Given the description of an element on the screen output the (x, y) to click on. 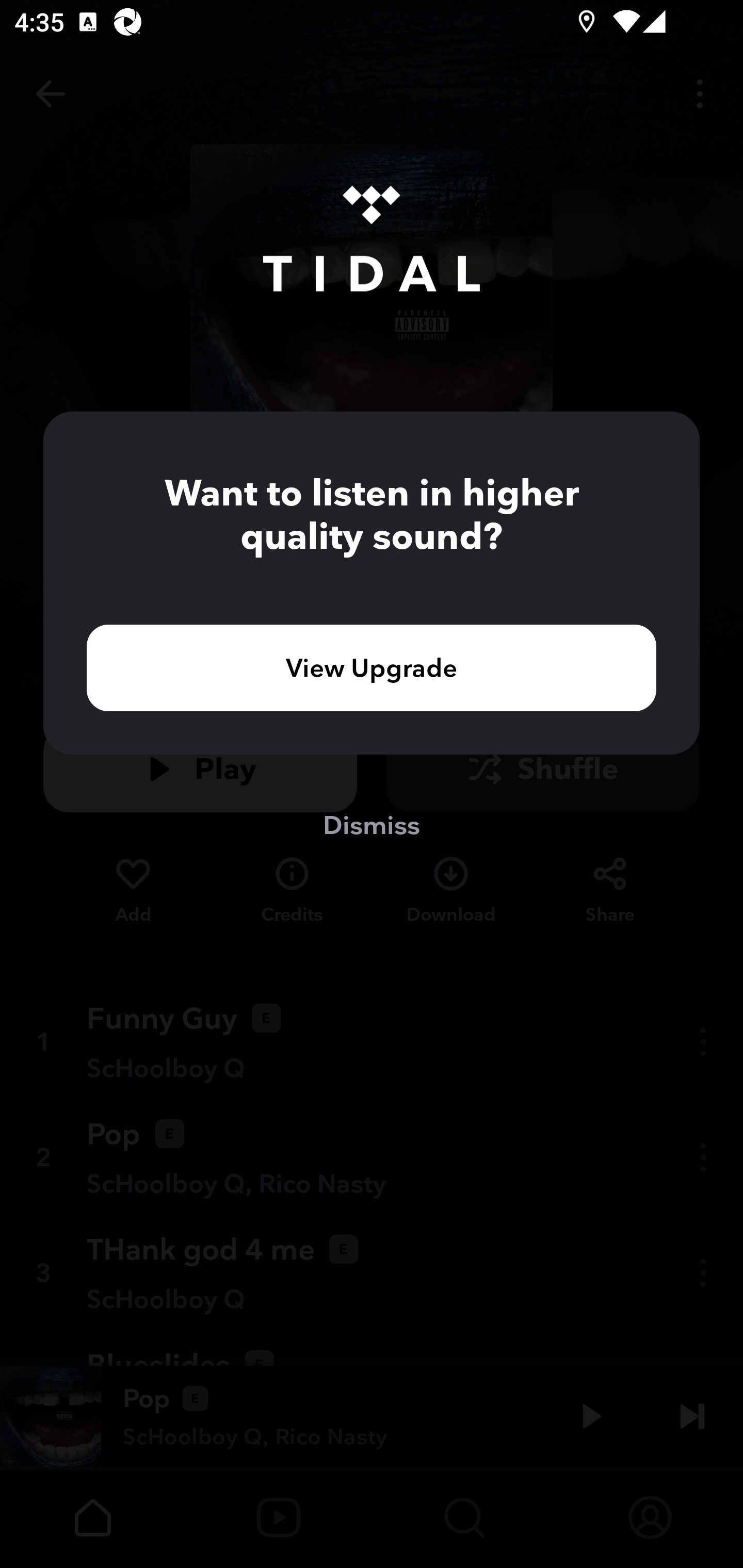
View Upgrade (371, 667)
Dismiss (371, 824)
